Given the description of an element on the screen output the (x, y) to click on. 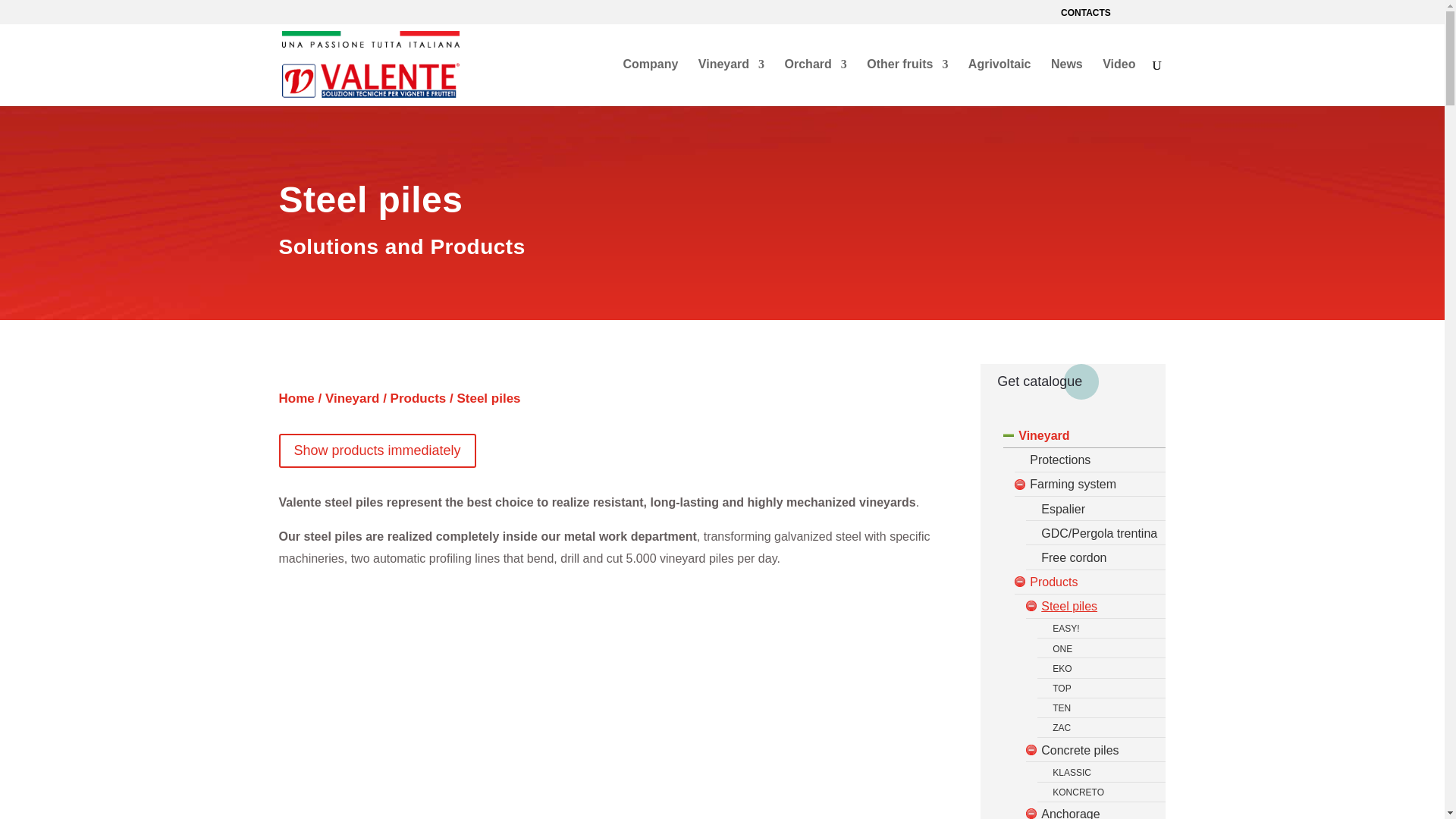
Other fruits (906, 82)
Orchard (815, 82)
Products (418, 398)
Company (650, 82)
Vineyard (352, 398)
Agrivoltaic (999, 82)
Show products immediately (377, 450)
CONTACTS (1085, 16)
Vineyard (731, 82)
Home (296, 398)
